Given the description of an element on the screen output the (x, y) to click on. 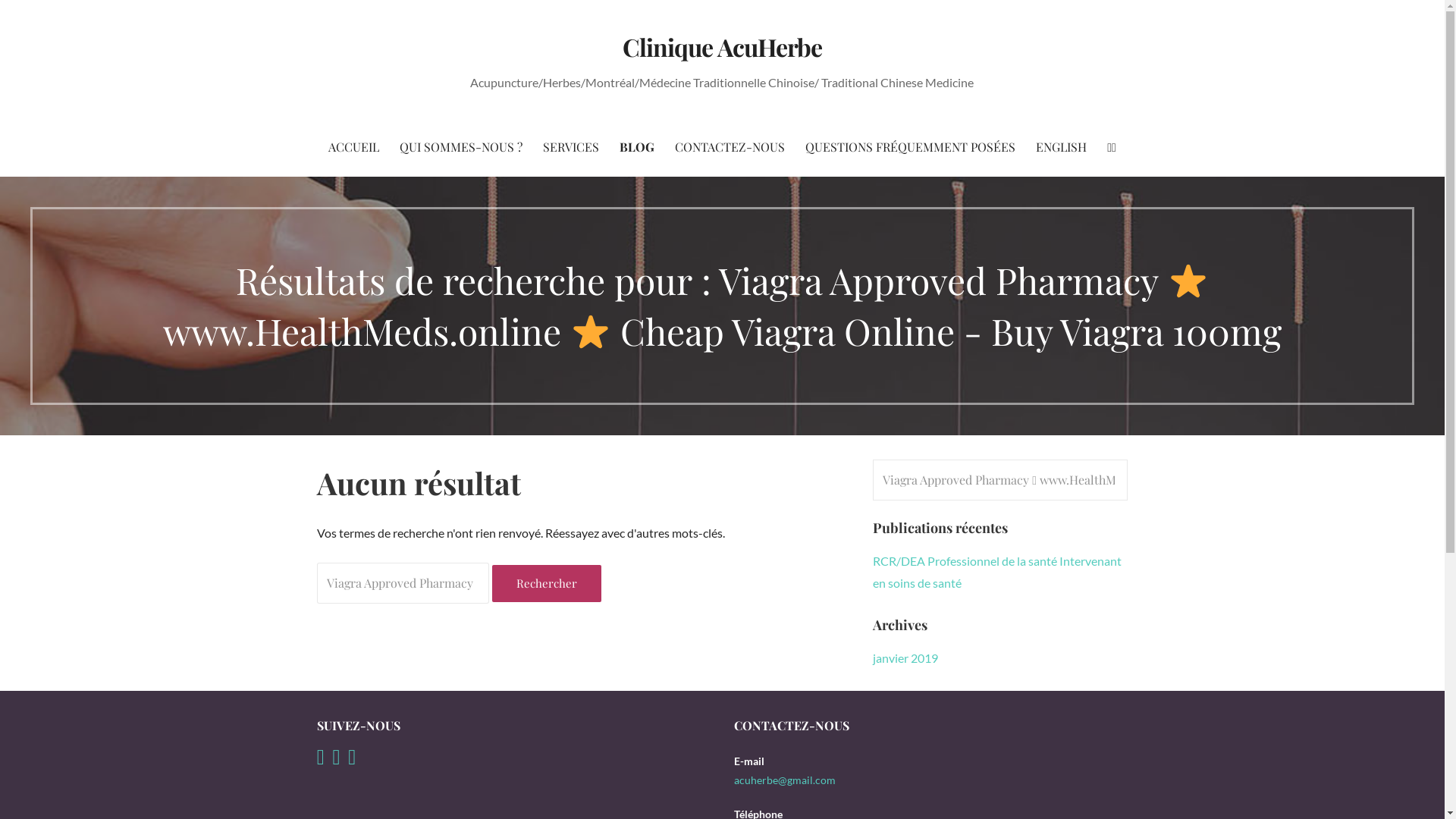
acuherbe@gmail.com Element type: text (784, 779)
Passer au contenu Element type: text (0, 0)
CONTACTEZ-NOUS Element type: text (729, 147)
janvier 2019 Element type: text (905, 657)
Clinique AcuHerbe Element type: text (722, 46)
Visit Clinique AcuHerbe on Facebook Element type: hover (351, 759)
Rechercher Element type: text (546, 583)
QUI SOMMES-NOUS ? Element type: text (460, 147)
ENGLISH Element type: text (1060, 147)
ACCUEIL Element type: text (353, 147)
SERVICES Element type: text (570, 147)
Visit Clinique AcuHerbe on WhatsApp Element type: hover (320, 759)
Rechercher Element type: text (54, 18)
Visit Clinique AcuHerbe on WeChat Element type: hover (335, 759)
BLOG Element type: text (636, 147)
